Given the description of an element on the screen output the (x, y) to click on. 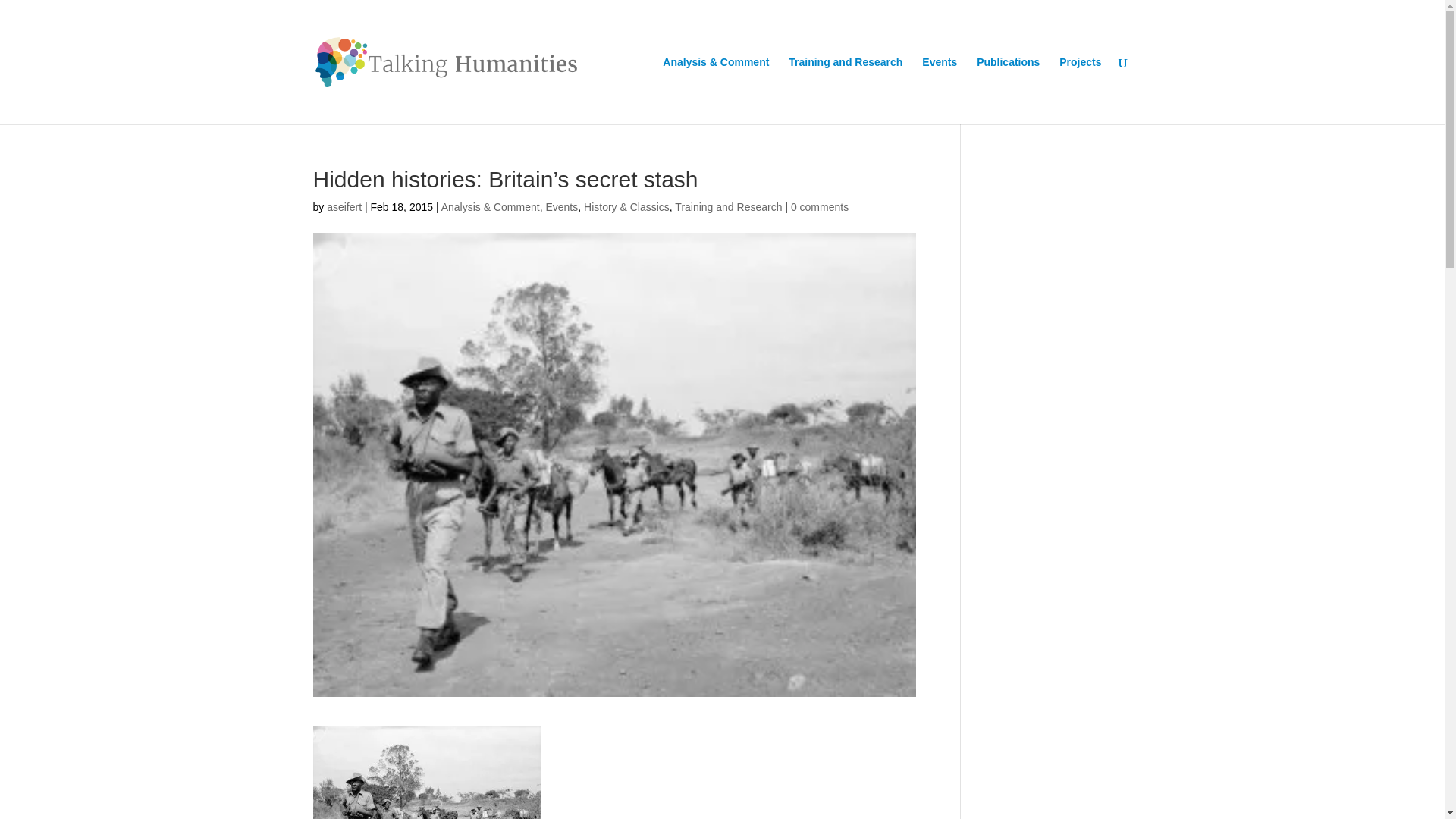
Posts by aseifert (343, 206)
Training and Research (728, 206)
Training and Research (845, 90)
aseifert (343, 206)
0 comments (819, 206)
Events (561, 206)
Publications (1007, 90)
